Given the description of an element on the screen output the (x, y) to click on. 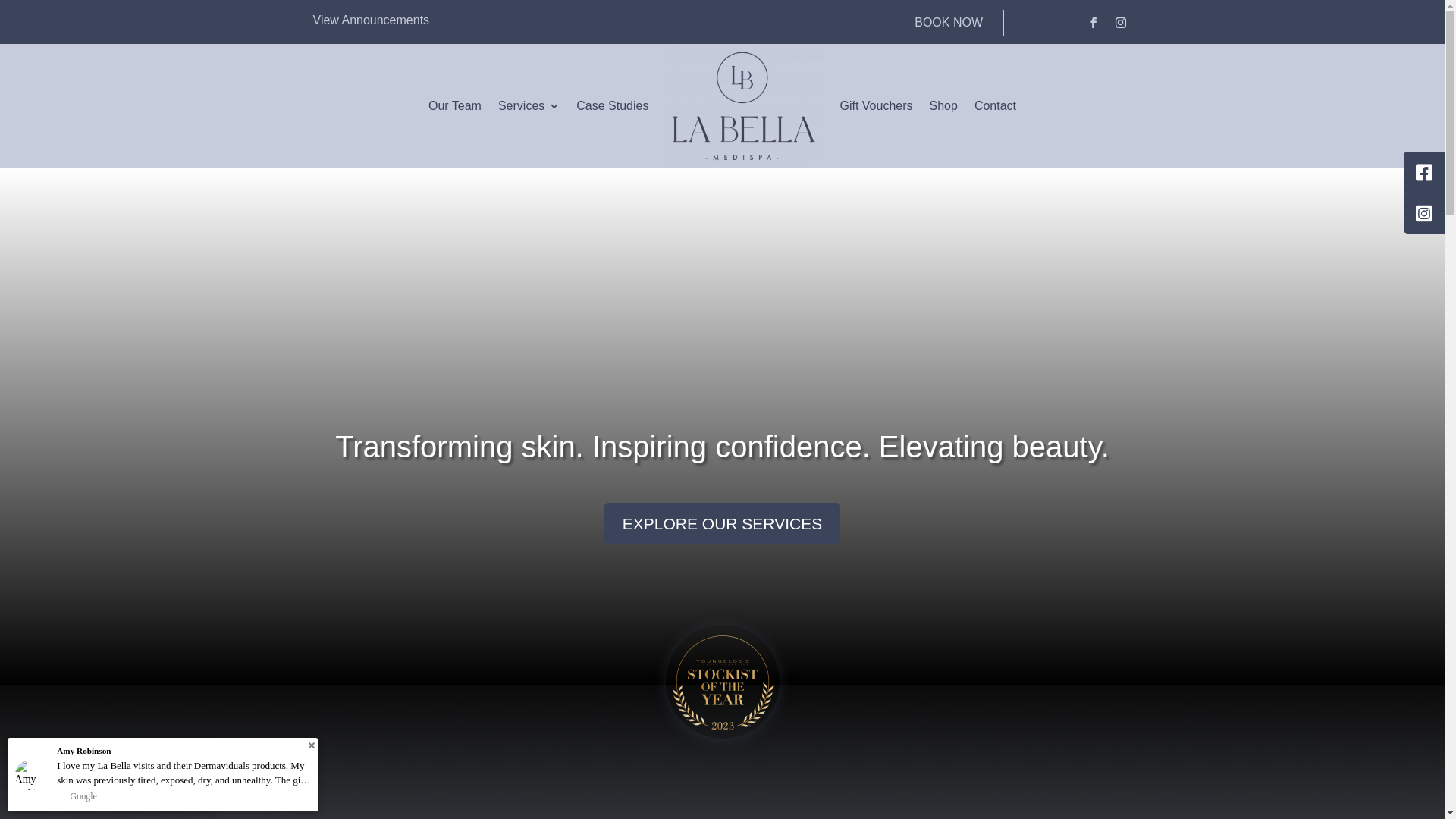
EXPLORE OUR SERVICES Element type: text (722, 522)
Case Studies Element type: text (612, 105)
Contact Element type: text (995, 105)
Gift Vouchers Element type: text (875, 105)
Follow on Facebook Element type: hover (1093, 22)
Our Team Element type: text (454, 105)
Shop Element type: text (943, 105)
Follow on Instagram Element type: hover (1120, 22)
Services Element type: text (528, 105)
SOTY Youngblood Winner 2023 Element type: hover (722, 681)
